Given the description of an element on the screen output the (x, y) to click on. 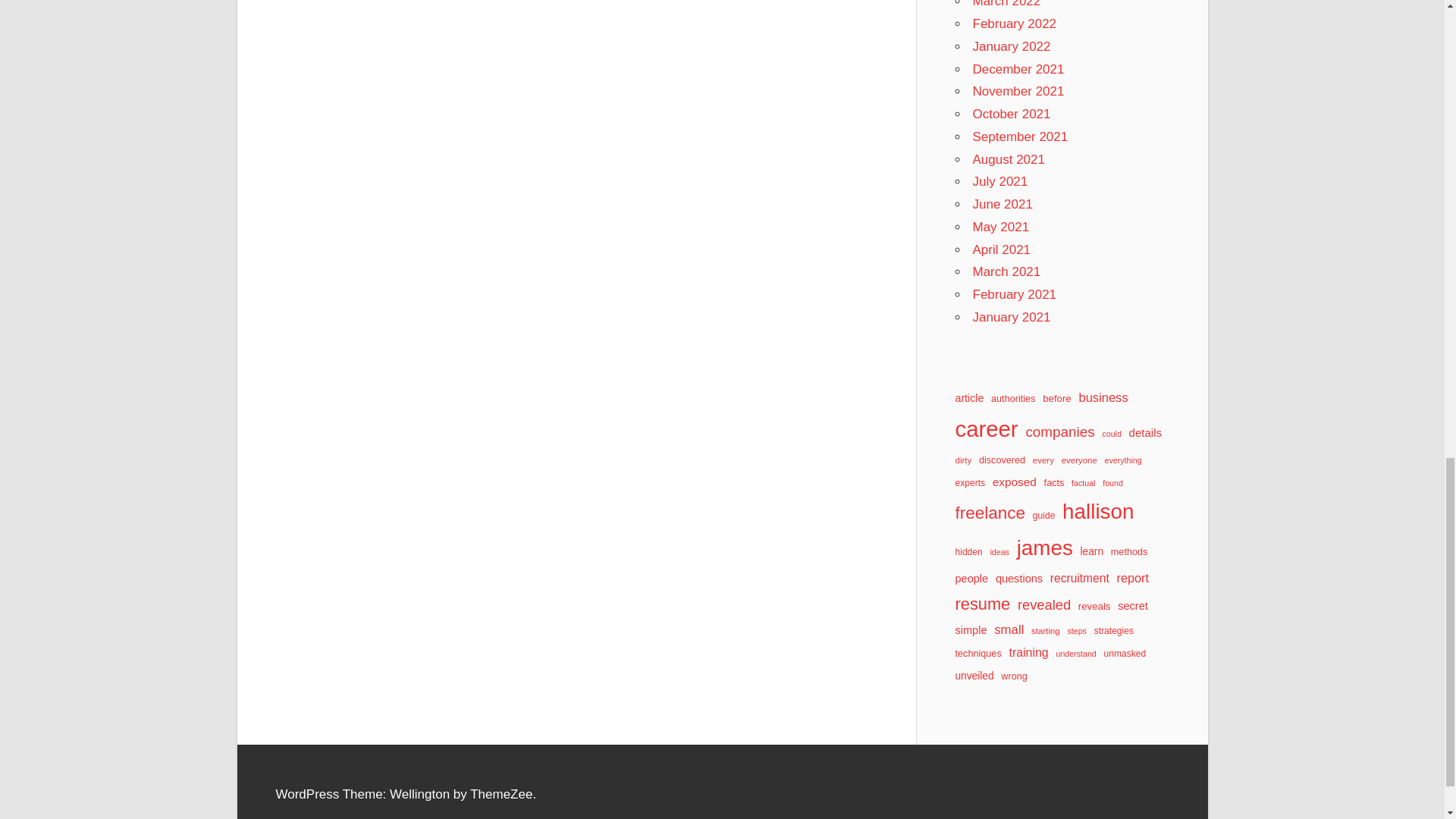
February 2022 (1014, 23)
August 2021 (1007, 159)
article (969, 398)
January 2021 (1010, 317)
June 2021 (1002, 204)
September 2021 (1019, 136)
July 2021 (999, 181)
May 2021 (1000, 227)
March 2022 (1006, 4)
December 2021 (1018, 68)
